Given the description of an element on the screen output the (x, y) to click on. 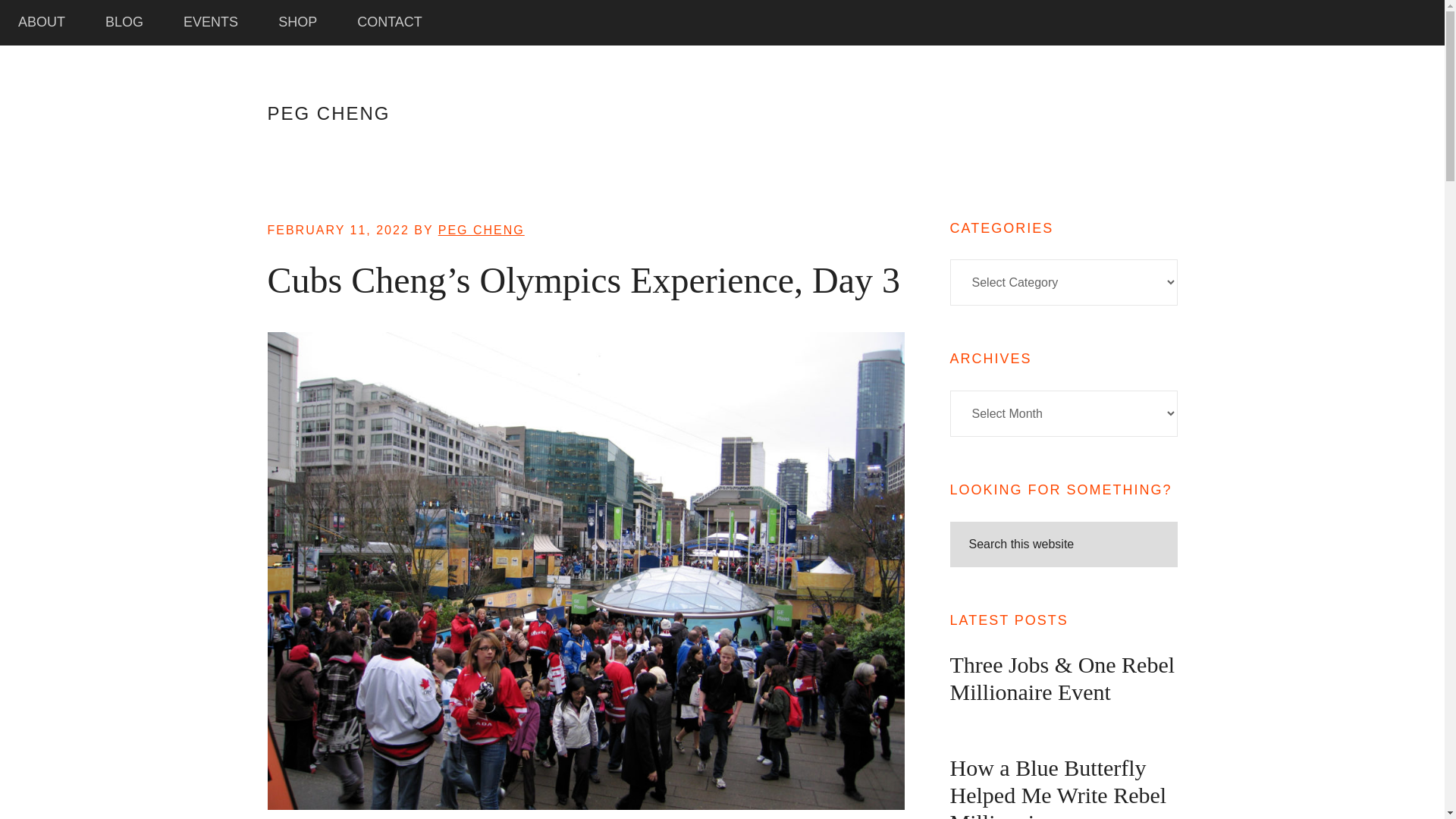
CONTACT (389, 22)
How a Blue Butterfly Helped Me Write Rebel Millionaire (1057, 787)
ABOUT (41, 22)
PEG CHENG (481, 229)
EVENTS (210, 22)
PEG CHENG (328, 113)
